Given the description of an element on the screen output the (x, y) to click on. 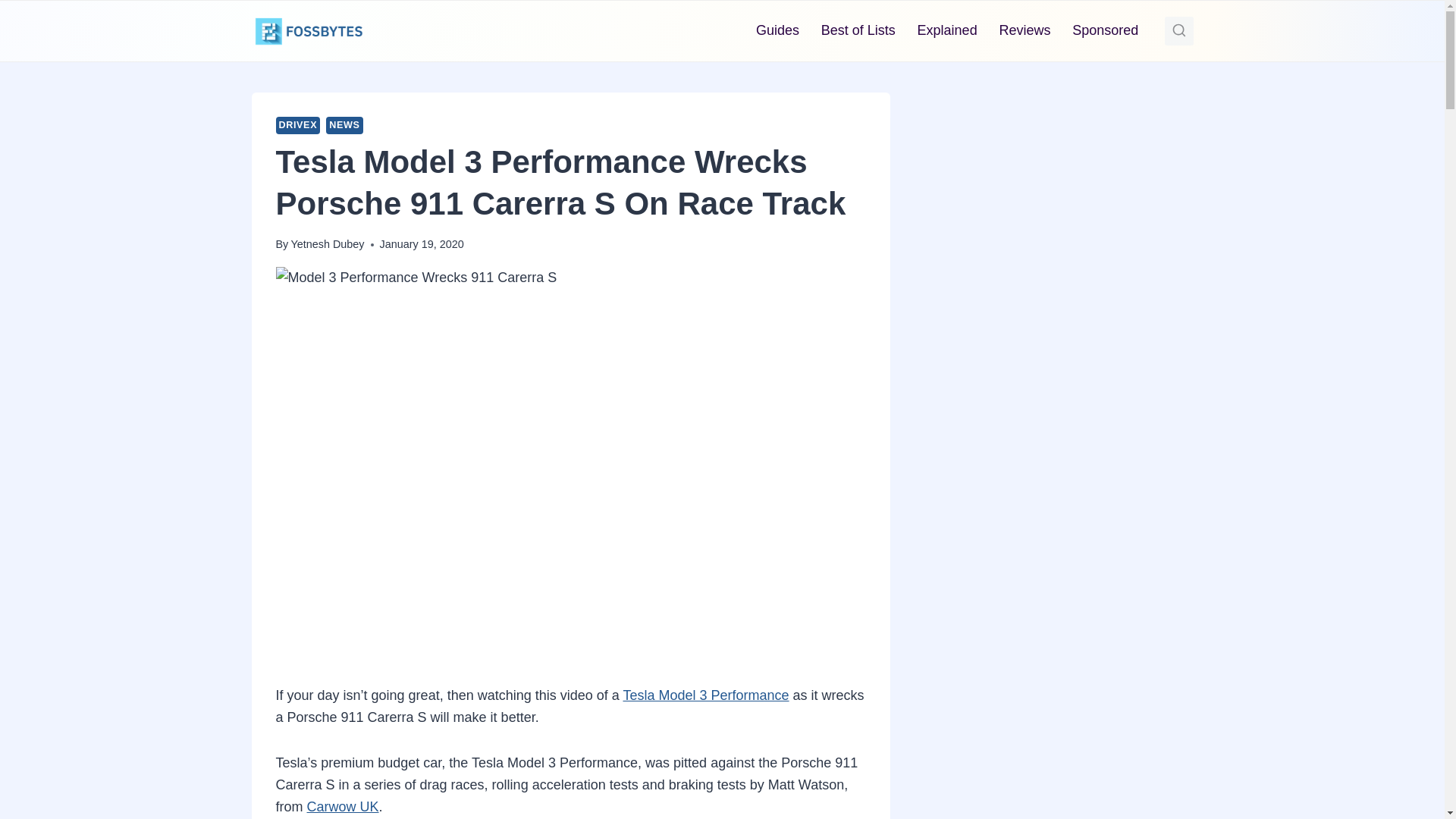
Best of Lists (857, 30)
Yetnesh Dubey (326, 244)
Guides (777, 30)
Explained (946, 30)
Carwow UK (342, 806)
Sponsored (1105, 30)
NEWS (344, 125)
Reviews (1024, 30)
DRIVEX (298, 125)
Tesla Model 3 Performance (706, 694)
